Given the description of an element on the screen output the (x, y) to click on. 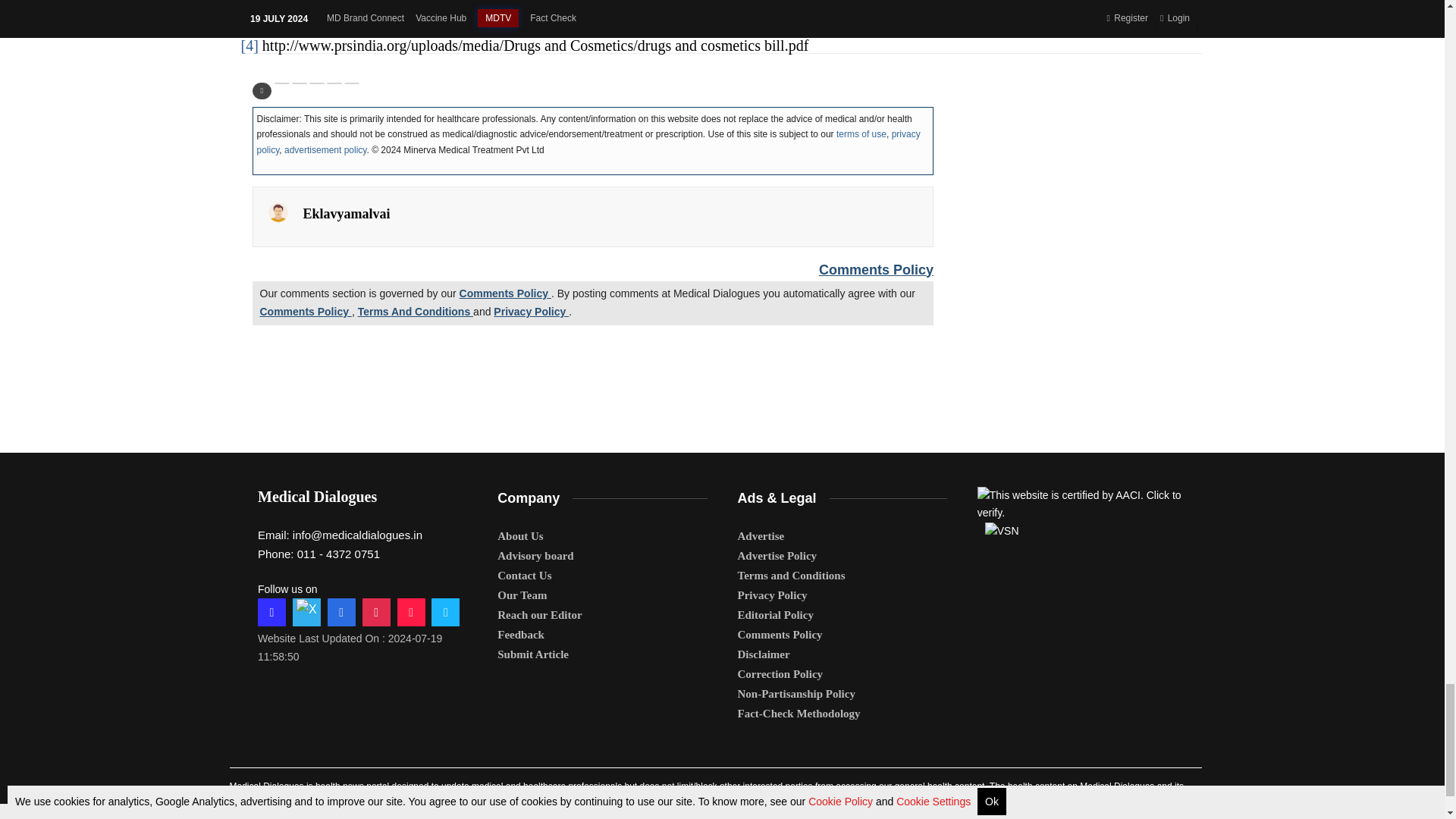
eklavyamalvai (277, 211)
